Given the description of an element on the screen output the (x, y) to click on. 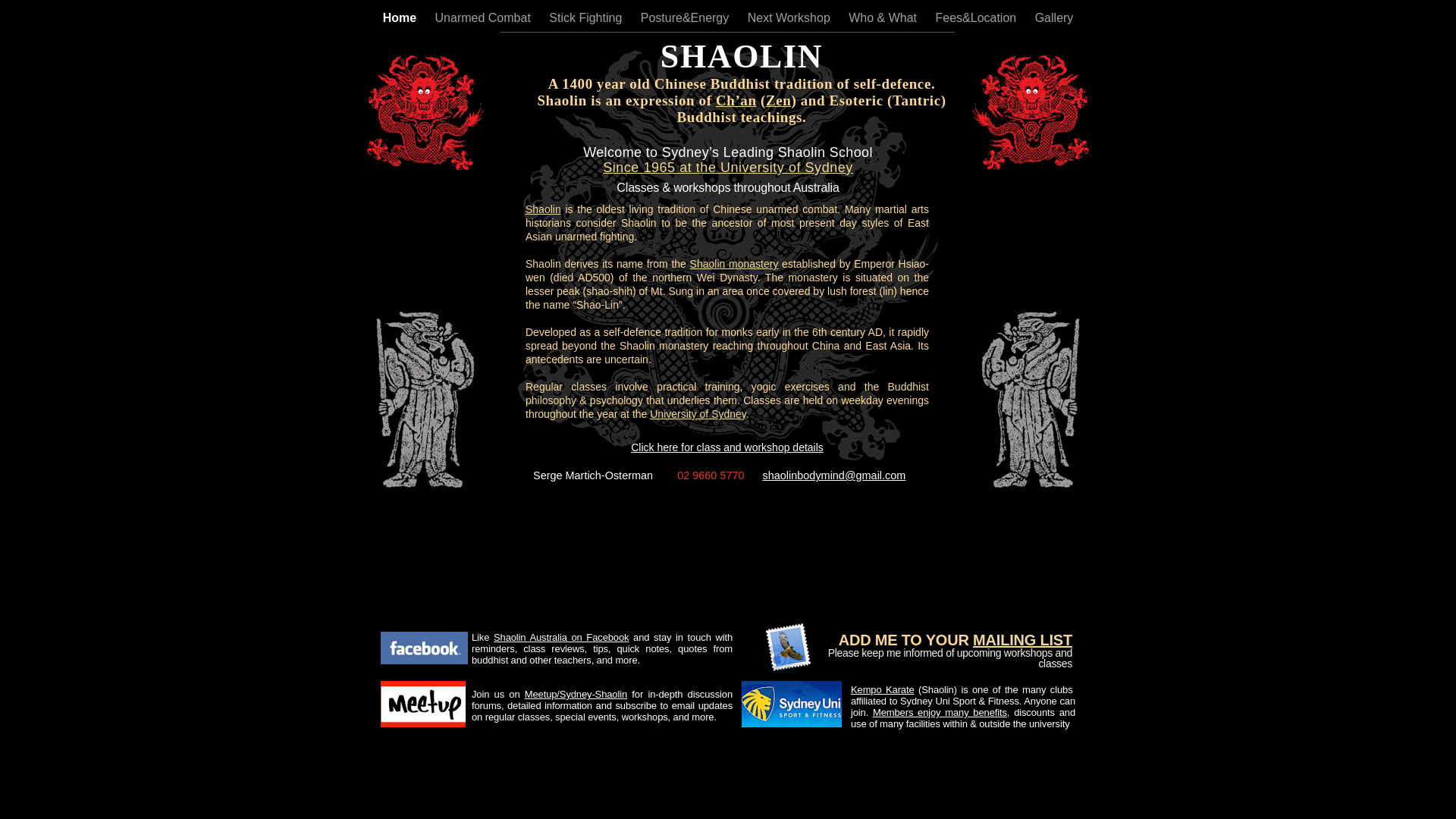
Kempo Karate Element type: text (882, 689)
Unarmed Combat Element type: text (484, 17)
Click here for class and workshop details Element type: text (726, 447)
Shaolin Australia on Facebook Element type: text (560, 637)
Who & What Element type: text (883, 17)
Members enjoy many benefits Element type: text (939, 712)
Gallery Element type: text (1054, 17)
shaolinbodymind@gmail.com Element type: text (834, 475)
MAILING LIST Element type: text (1022, 639)
Next Workshop Element type: text (790, 17)
Fees&Location Element type: text (977, 17)
Meetup/Sydney-Shaolin Element type: text (575, 693)
Posture&Energy Element type: text (686, 17)
Stick Fighting Element type: text (586, 17)
University of Sydney Element type: text (697, 413)
Home Element type: text (401, 17)
Shaolin Element type: text (543, 209)
Shaolin monastery Element type: text (734, 263)
Since 1965 at the University of Sydney Element type: text (727, 167)
